Given the description of an element on the screen output the (x, y) to click on. 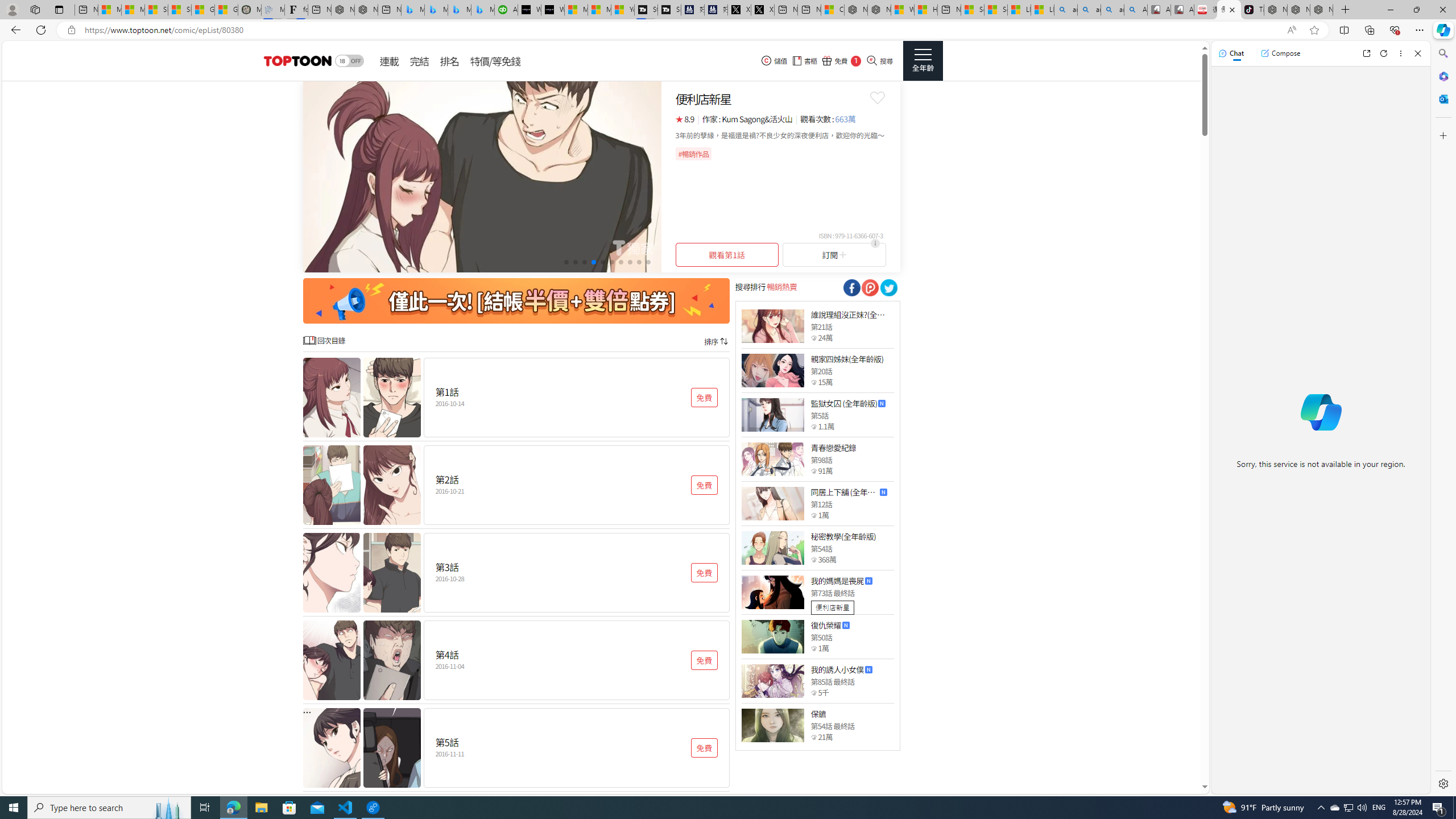
Open link in new tab (1366, 53)
Compose (1280, 52)
Amazon Echo Robot - Search Images (1135, 9)
